Given the description of an element on the screen output the (x, y) to click on. 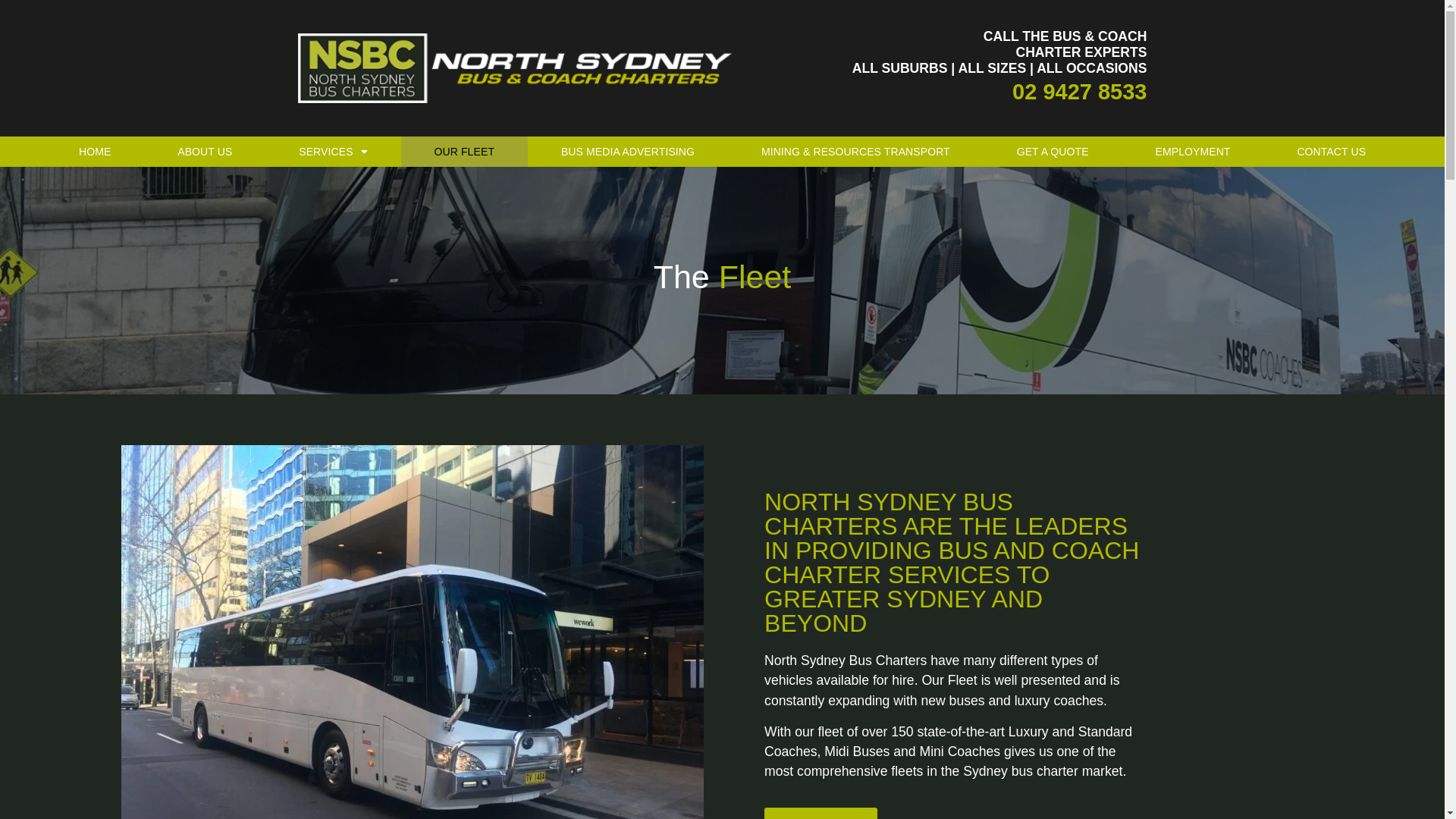
CONTACT US Element type: text (1331, 151)
ABOUT US Element type: text (204, 151)
OUR FLEET Element type: text (464, 151)
SERVICES Element type: text (332, 151)
02 9427 8533 Element type: text (1079, 91)
GET A QUOTE Element type: text (1052, 151)
HOME Element type: text (94, 151)
MINING & RESOURCES TRANSPORT Element type: text (855, 151)
EMPLOYMENT Element type: text (1193, 151)
BUS MEDIA ADVERTISING Element type: text (627, 151)
